Given the description of an element on the screen output the (x, y) to click on. 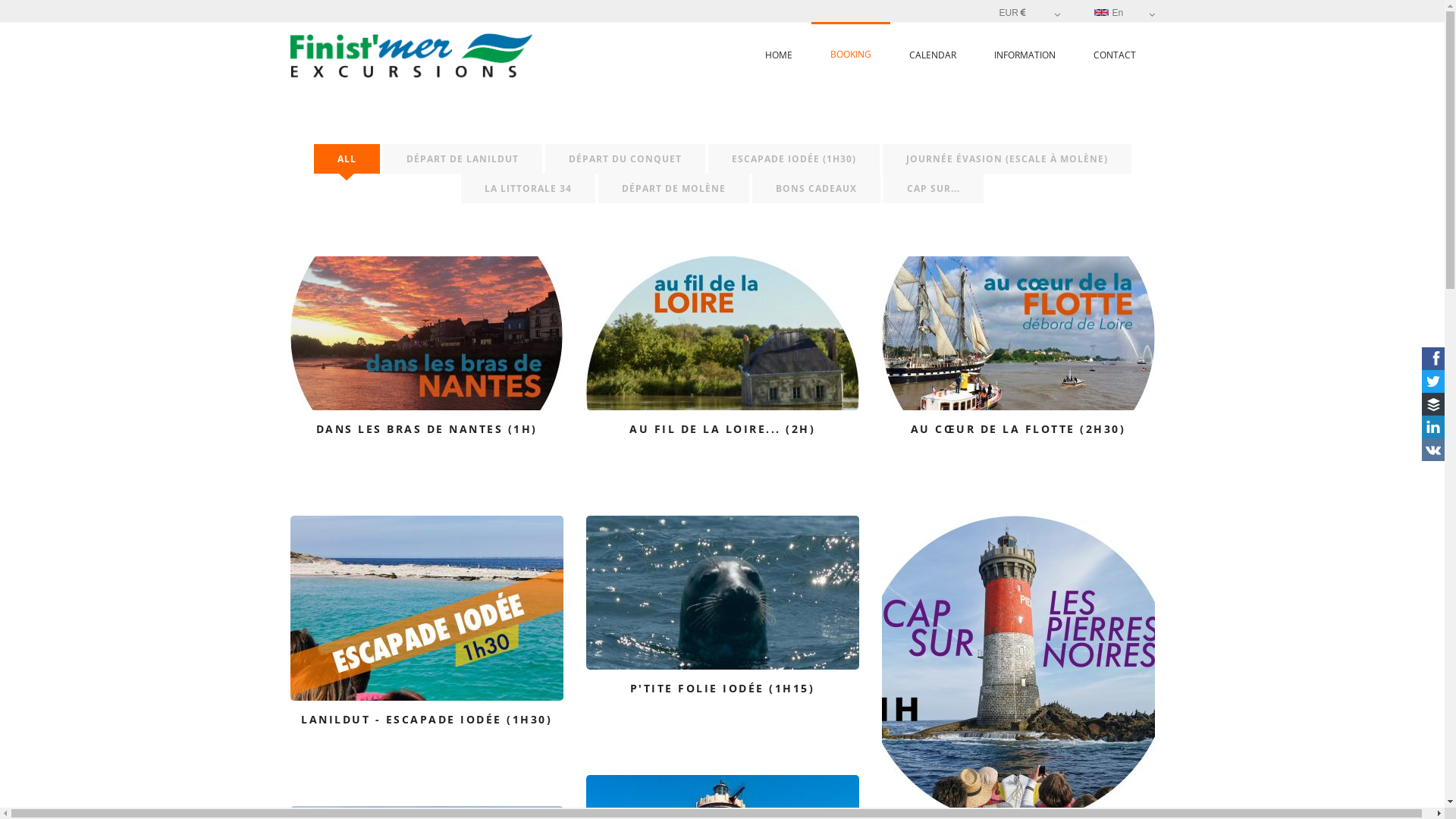
LA LITTORALE 34 Element type: text (528, 188)
HOME Element type: text (778, 54)
ALL Element type: text (346, 158)
AU FIL DE LA LOIRE... (2H) Element type: text (721, 366)
BONS CADEAUX Element type: text (816, 188)
CALENDAR Element type: text (932, 54)
INFORMATION Element type: text (1024, 54)
CAP SUR... Element type: text (933, 188)
BOOKING Element type: text (850, 54)
DANS LES BRAS DE NANTES (1H) Element type: text (425, 366)
CONTACT Element type: text (1113, 54)
